Given the description of an element on the screen output the (x, y) to click on. 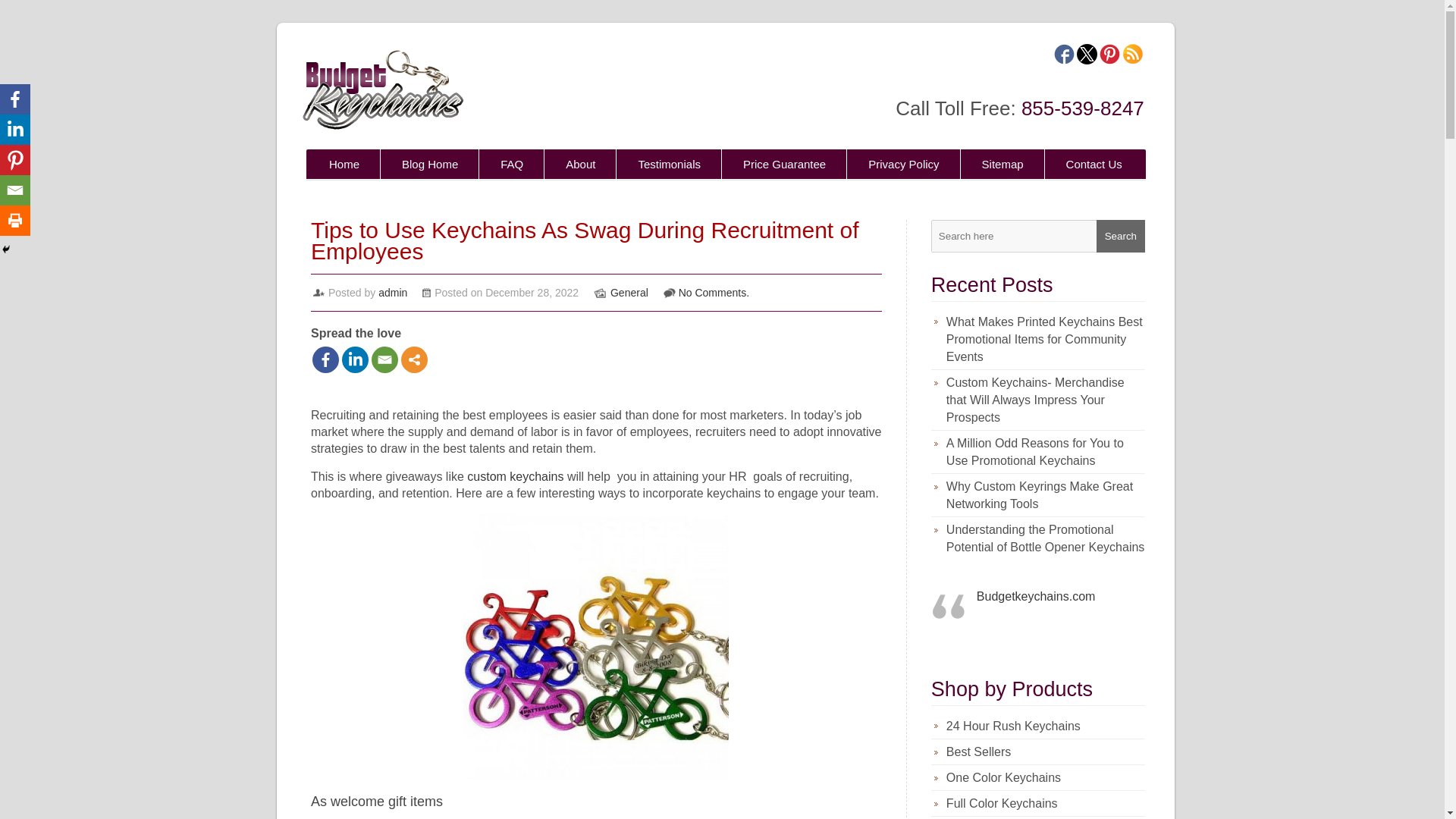
Twitter (1087, 54)
Privacy Policy (903, 167)
Sitemap (1001, 167)
RSS Feed (1132, 54)
No Comments. (713, 292)
Pinterest (1109, 54)
More (414, 359)
Facebook (326, 359)
Blog Home (429, 167)
custom keychains (515, 476)
